Given the description of an element on the screen output the (x, y) to click on. 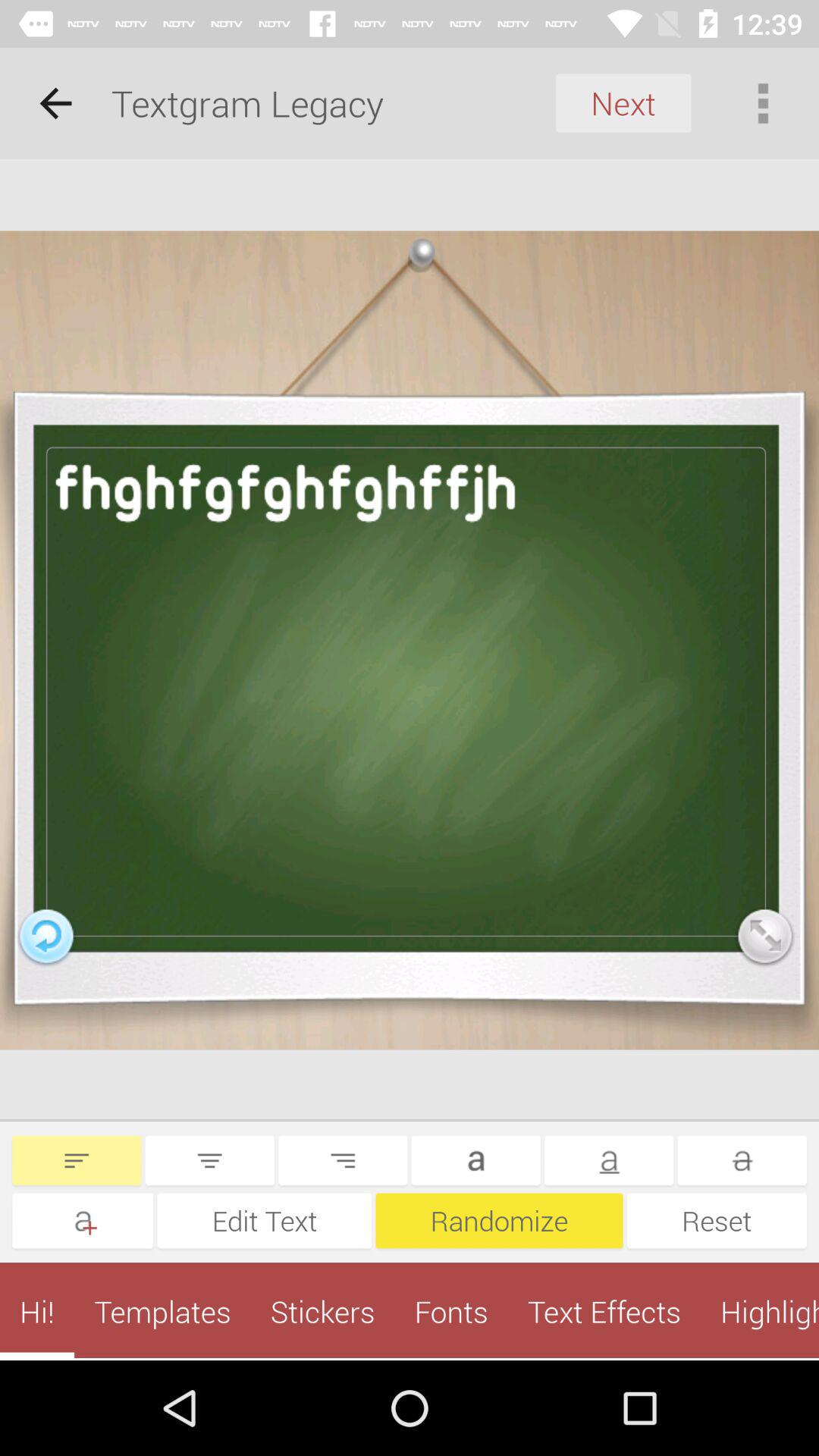
open the icon to the left of textgram legacy (55, 103)
